Given the description of an element on the screen output the (x, y) to click on. 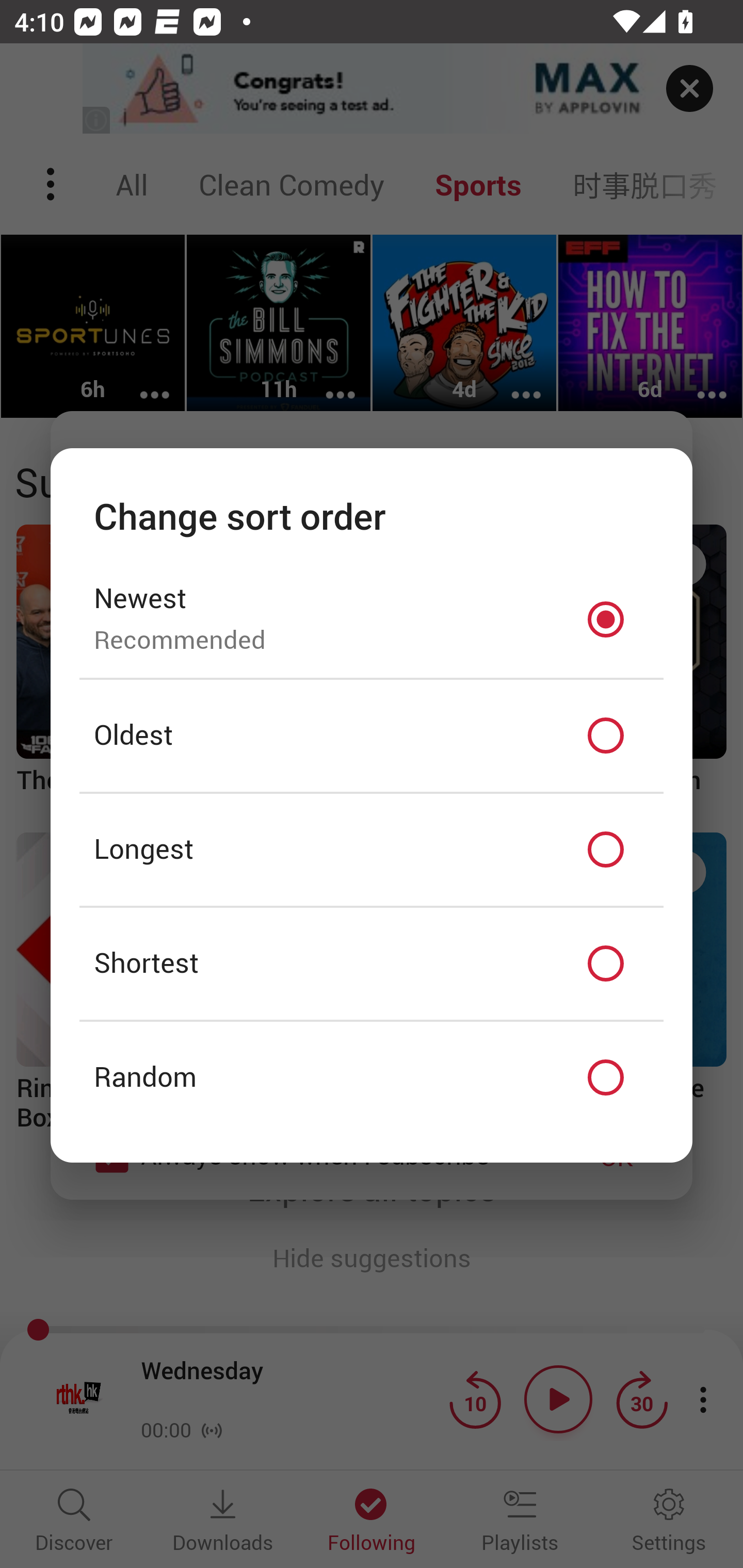
Newest Recommended (371, 619)
Oldest (371, 735)
Longest (371, 849)
Shortest (371, 963)
Random (371, 1077)
